Given the description of an element on the screen output the (x, y) to click on. 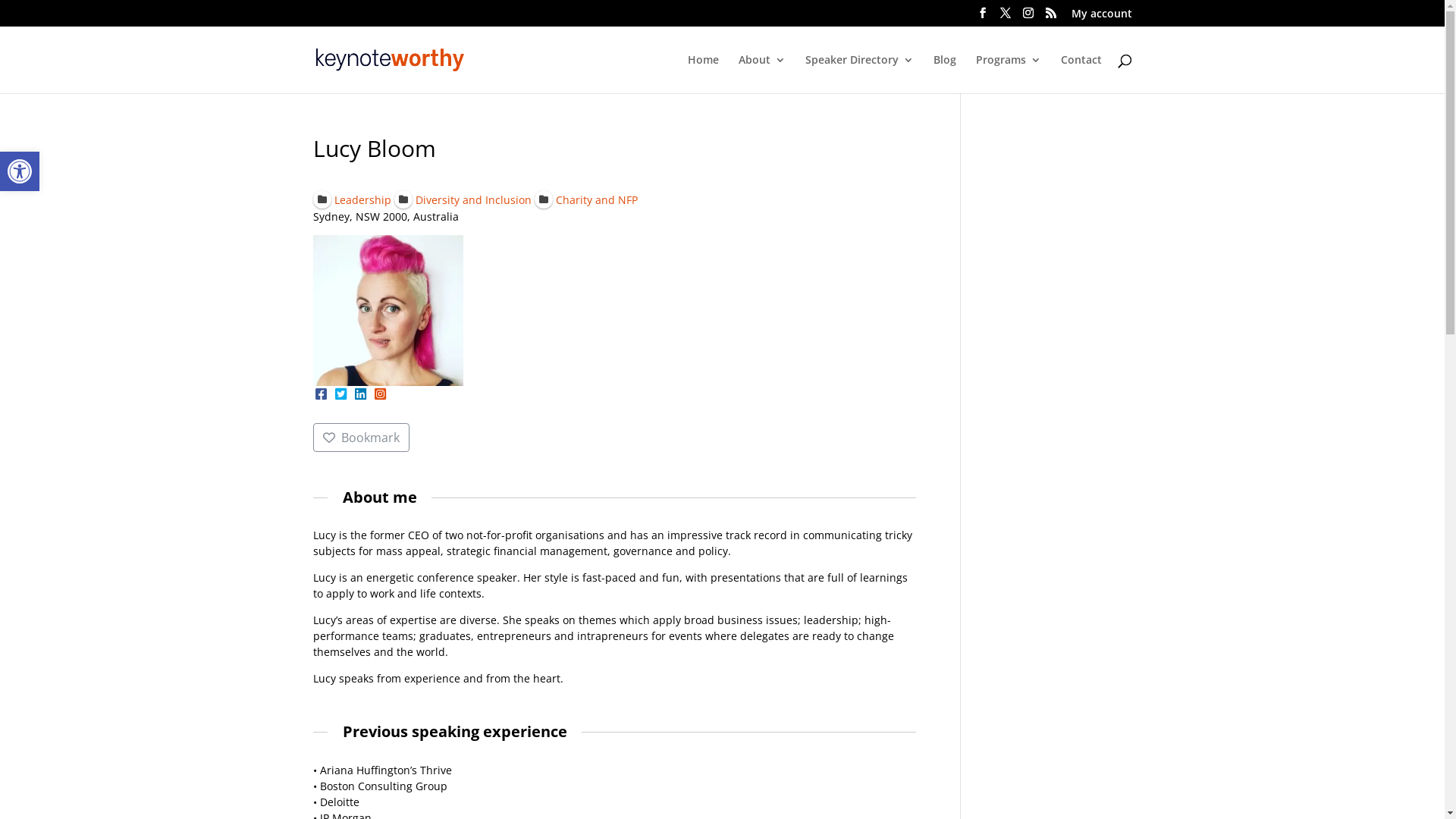
Twitter Element type: hover (340, 393)
Leadership Element type: text (351, 198)
Home Element type: text (702, 73)
Speaker Directory Element type: text (859, 73)
My account Element type: text (1100, 16)
Instagram Element type: hover (379, 393)
About Element type: text (761, 73)
Programs Element type: text (1007, 73)
lucy-bloom-1 Element type: hover (387, 310)
LinkedIn Element type: hover (359, 393)
Facebook Element type: hover (320, 393)
Diversity and Inclusion Element type: text (462, 198)
Open toolbar
Accessibility Tools Element type: text (19, 171)
Contact Element type: text (1080, 73)
Charity and NFP Element type: text (585, 198)
Blog Element type: text (943, 73)
Bookmark Element type: text (360, 437)
